Given the description of an element on the screen output the (x, y) to click on. 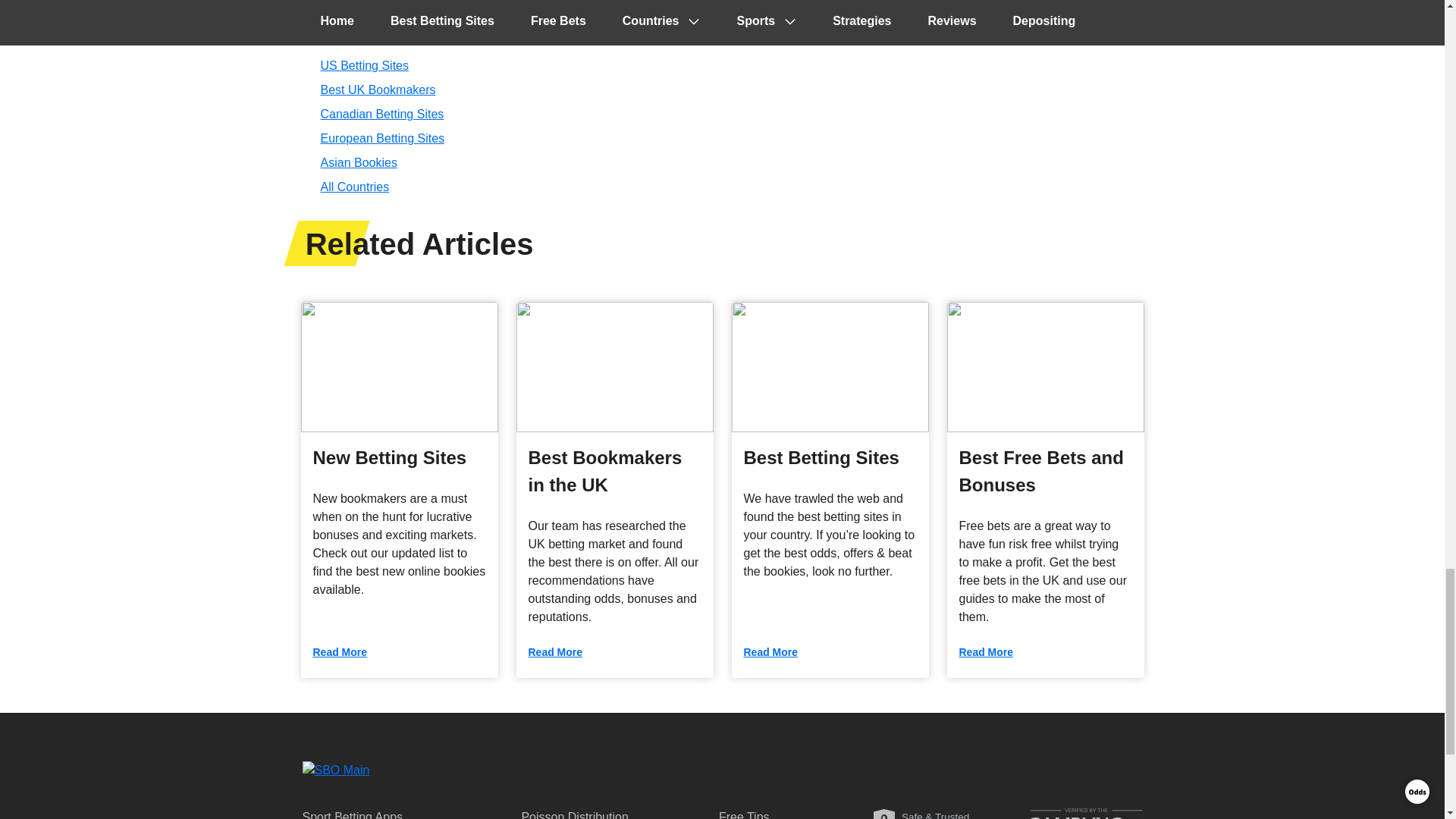
US Betting Sites (364, 65)
